Given the description of an element on the screen output the (x, y) to click on. 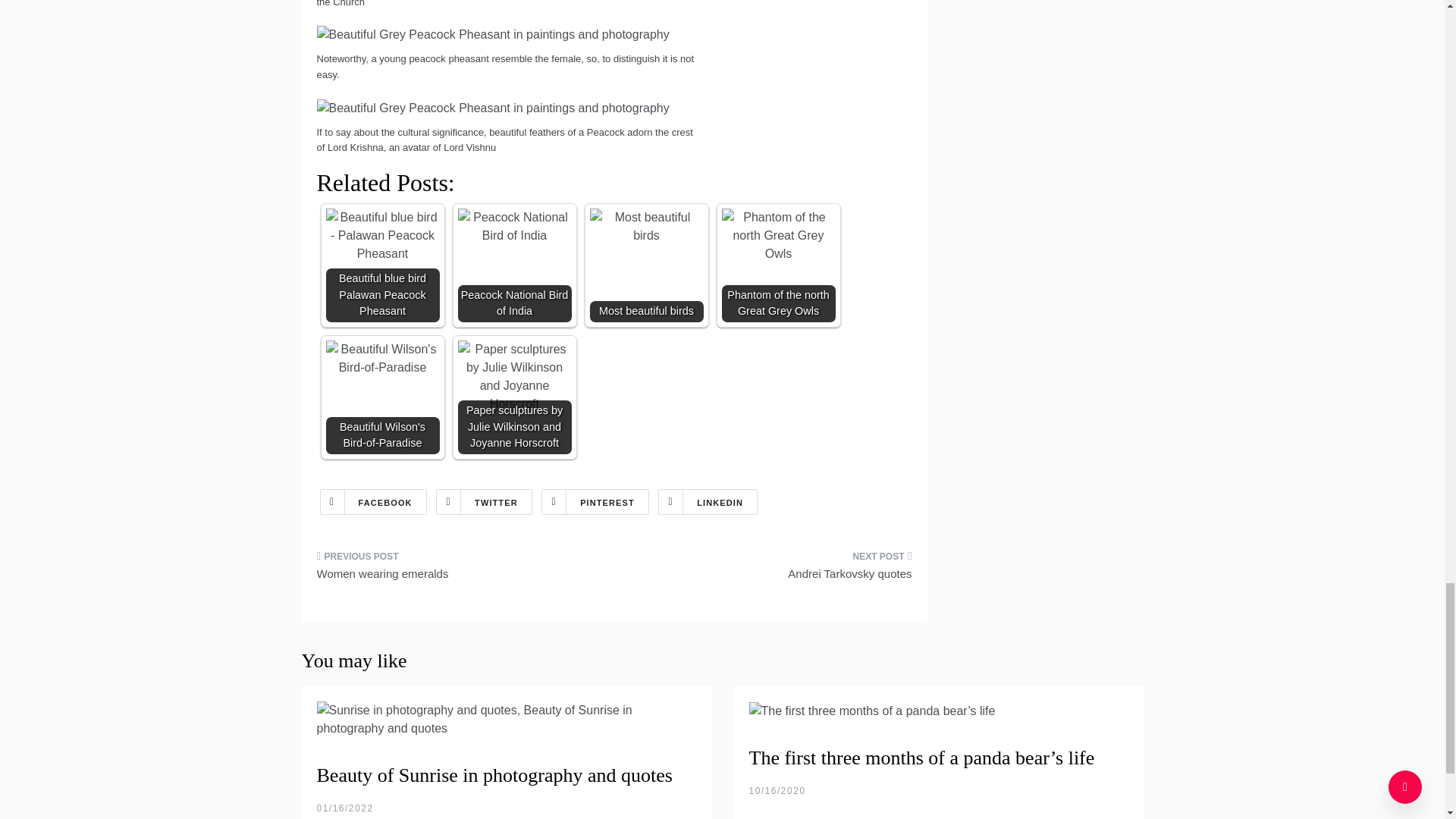
Andrei Tarkovsky quotes (769, 569)
Women wearing emeralds (460, 569)
PINTEREST (595, 501)
Peacock National Bird of India (515, 265)
Beautiful Wilson's Bird-of-Paradise (382, 397)
Paper sculptures by Julie Wilkinson and Joyanne Horscroft (515, 376)
Beautiful blue bird Palawan Peacock Pheasant (382, 265)
FACEBOOK (373, 501)
Phantom of the north Great Grey Owls (778, 265)
Phantom of the north Great Grey Owls (778, 235)
